Given the description of an element on the screen output the (x, y) to click on. 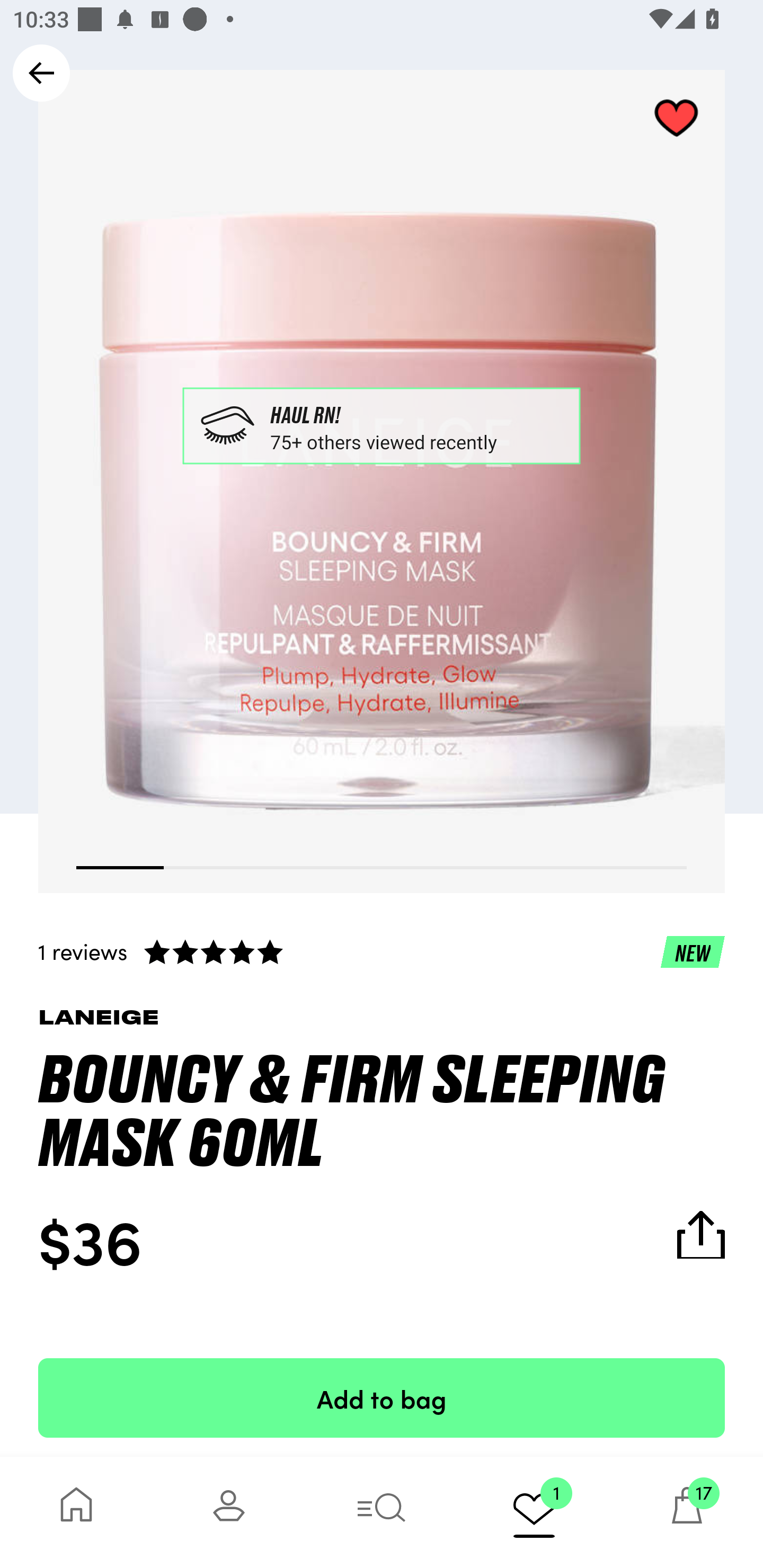
1 reviews (381, 950)
Add to bag (381, 1397)
1 (533, 1512)
17 (686, 1512)
